Given the description of an element on the screen output the (x, y) to click on. 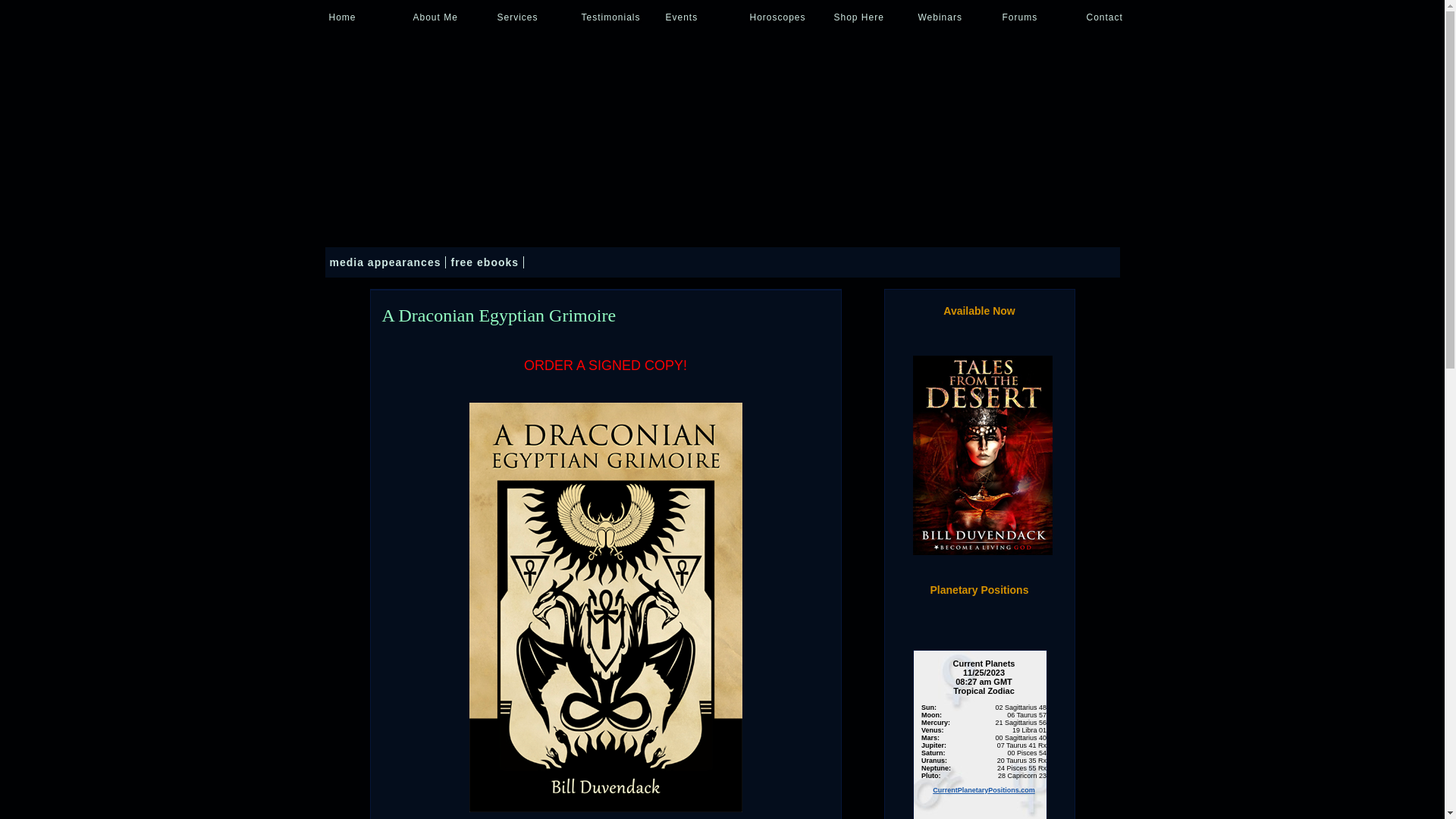
Contact Element type: text (1124, 11)
About Me Element type: text (451, 11)
Shop Here Element type: text (871, 11)
Testimonials Element type: text (619, 11)
media appearances Element type: text (384, 262)
YouTube Element type: text (972, 259)
Services Element type: text (534, 11)
RSS Element type: text (940, 259)
LinkedIn Element type: text (1035, 259)
free ebooks Element type: text (484, 262)
Events Element type: text (703, 11)
Forums Element type: text (1039, 11)
Patreon Element type: text (1003, 259)
Horoscopes Element type: text (788, 11)
Facebook Element type: text (1067, 259)
Twitter Element type: text (1099, 259)
Home Element type: text (366, 11)
Webinars Element type: text (956, 11)
